Given the description of an element on the screen output the (x, y) to click on. 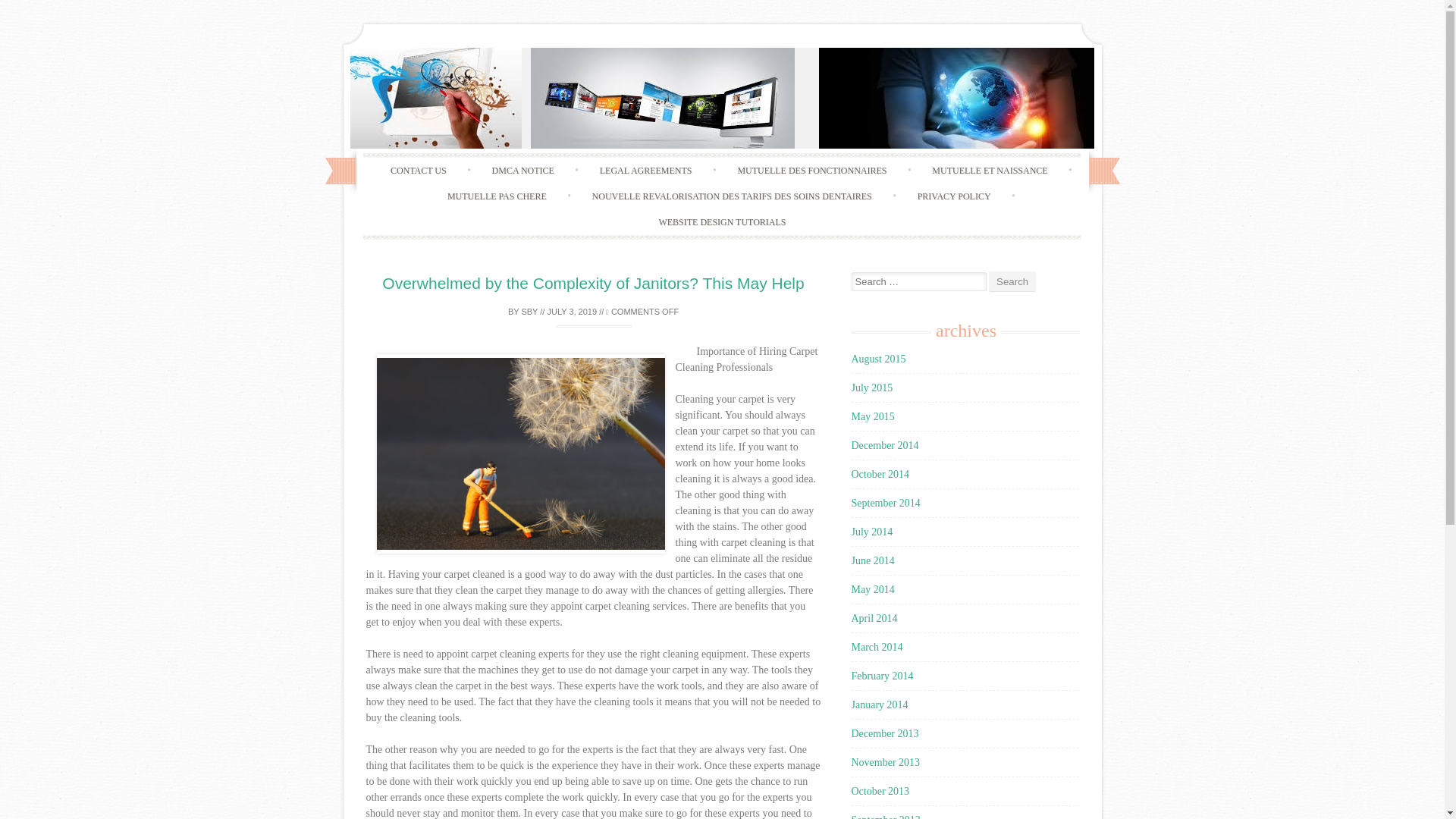
August 2015 (877, 358)
LEGAL AGREEMENTS (645, 170)
MUTUELLE PAS CHERE (496, 196)
Search (1011, 281)
Search (1011, 281)
January 2014 (878, 704)
NOUVELLE REVALORISATION DES TARIFS DES SOINS DENTAIRES (731, 196)
SBY (529, 310)
Search (1011, 281)
November 2013 (885, 762)
PRIVACY POLICY (954, 196)
May 2015 (871, 416)
June 2014 (871, 560)
9:25 am (571, 310)
